Given the description of an element on the screen output the (x, y) to click on. 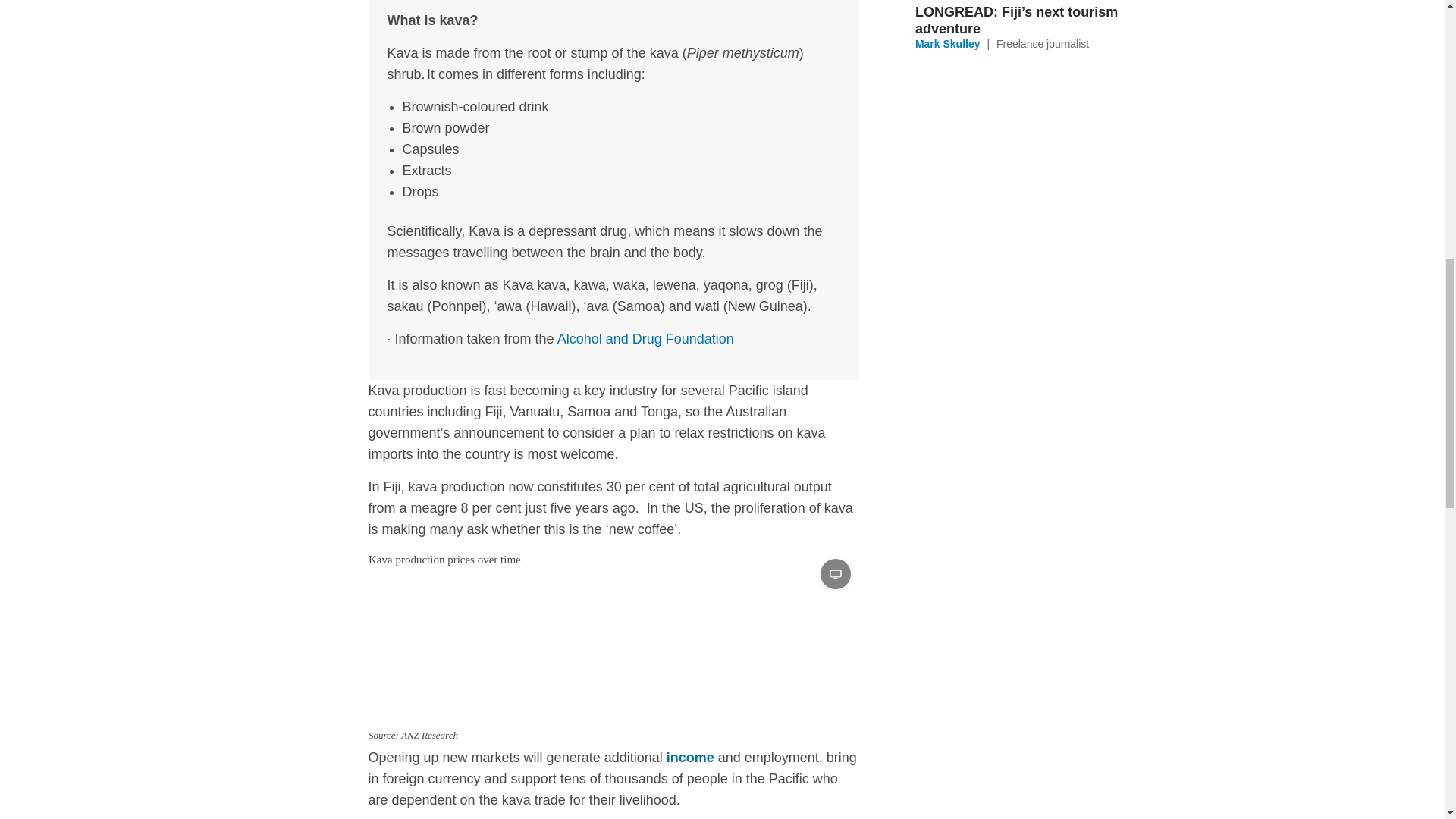
Freelance journalist (1042, 43)
Kava production (613, 646)
